Given the description of an element on the screen output the (x, y) to click on. 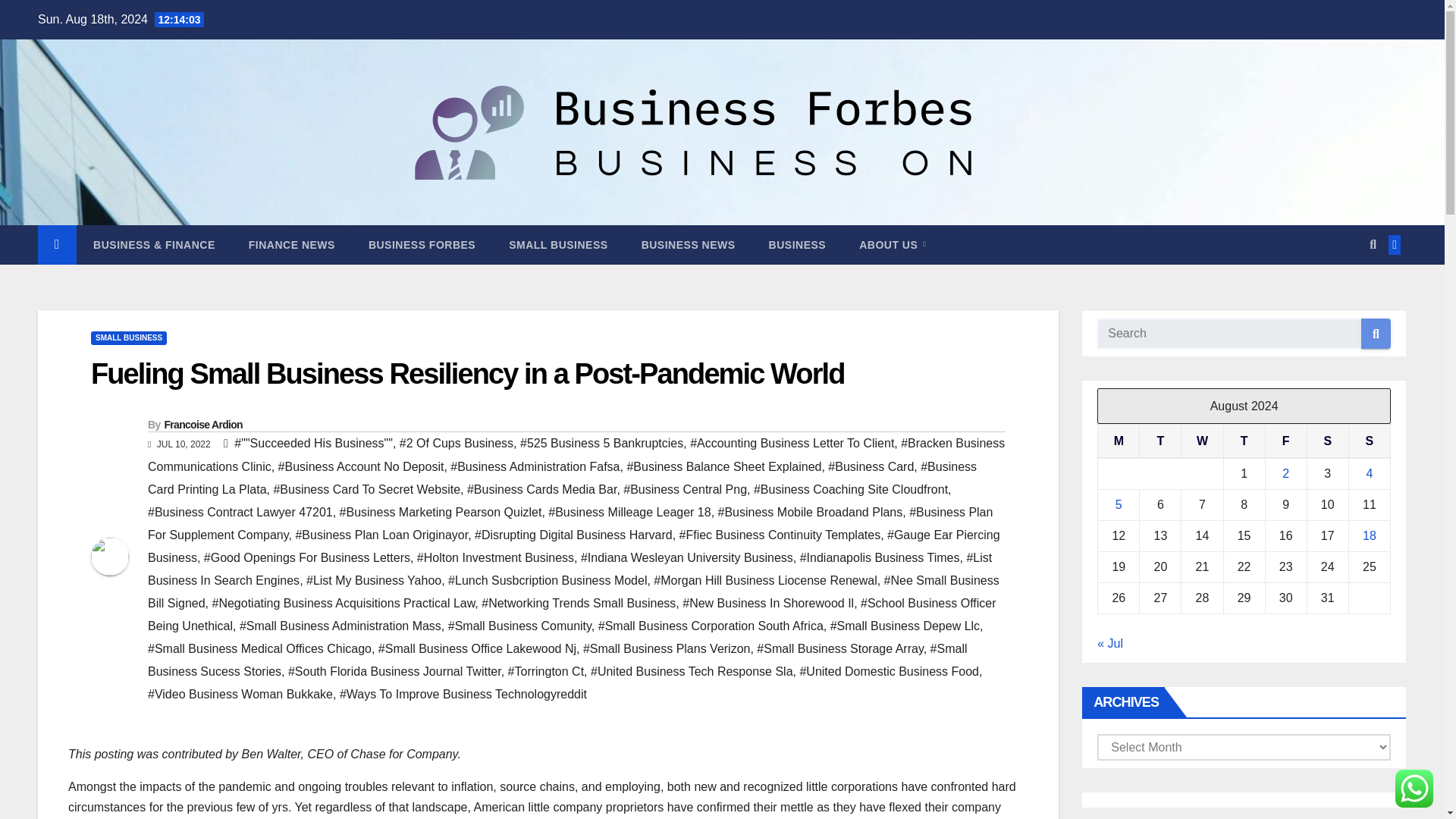
Small Business (558, 244)
FINANCE NEWS (291, 244)
BUSINESS (797, 244)
SMALL BUSINESS (128, 337)
Francoise Ardion (202, 424)
Business News (688, 244)
BUSINESS FORBES (422, 244)
SMALL BUSINESS (558, 244)
Fueling Small Business Resiliency in a Post-Pandemic World (467, 373)
